Given the description of an element on the screen output the (x, y) to click on. 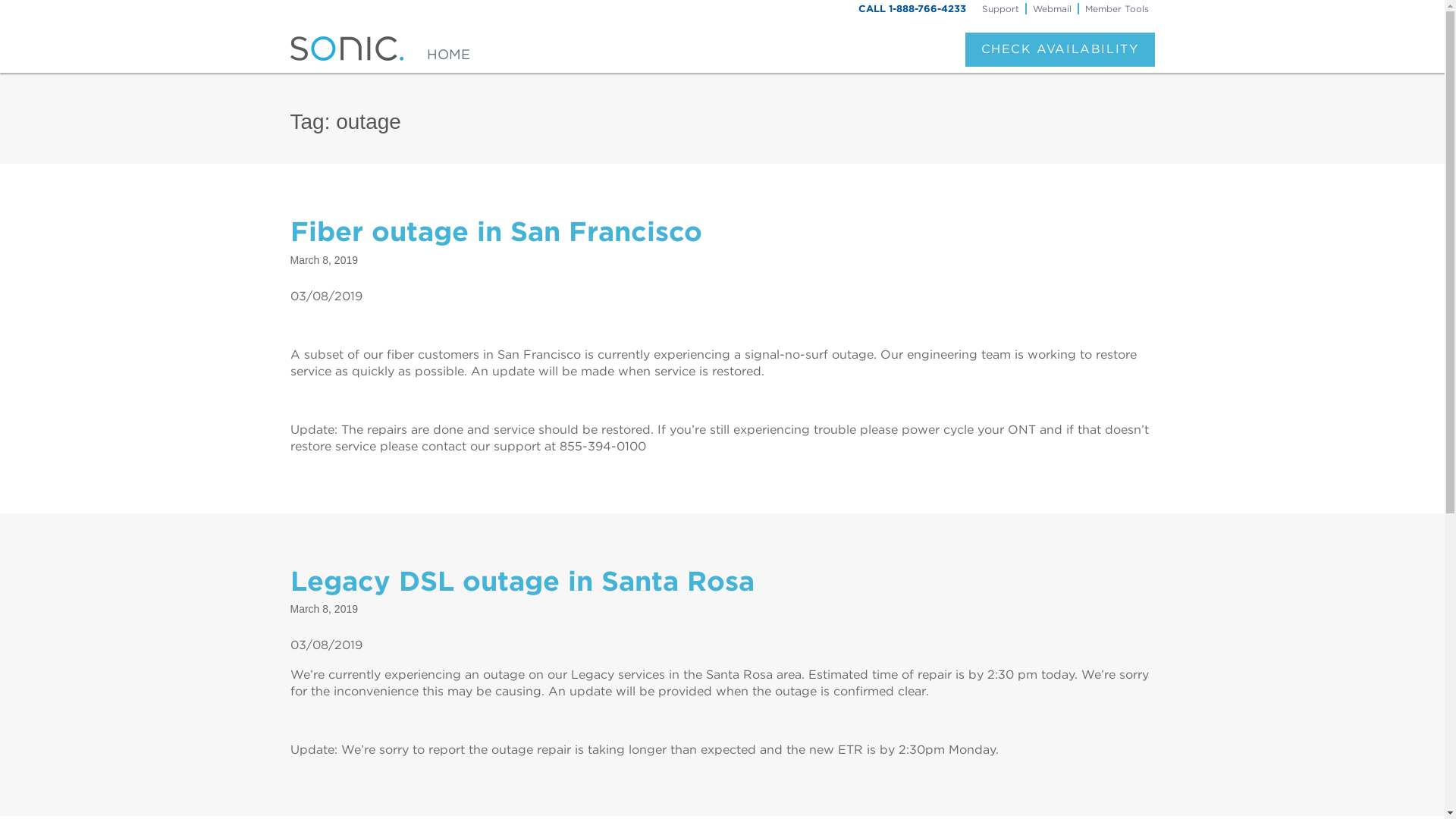
March 8, 2019 (323, 608)
Legacy DSL outage in Santa Rosa (521, 580)
CALL 1-888-766-4233 (912, 8)
Support (1000, 8)
CHECK AVAILABILITY (1059, 49)
Fiber outage in San Francisco (495, 231)
Go to Sonic.com (447, 48)
Webmail (1051, 8)
Member Tools (1116, 8)
HOME (447, 48)
